Given the description of an element on the screen output the (x, y) to click on. 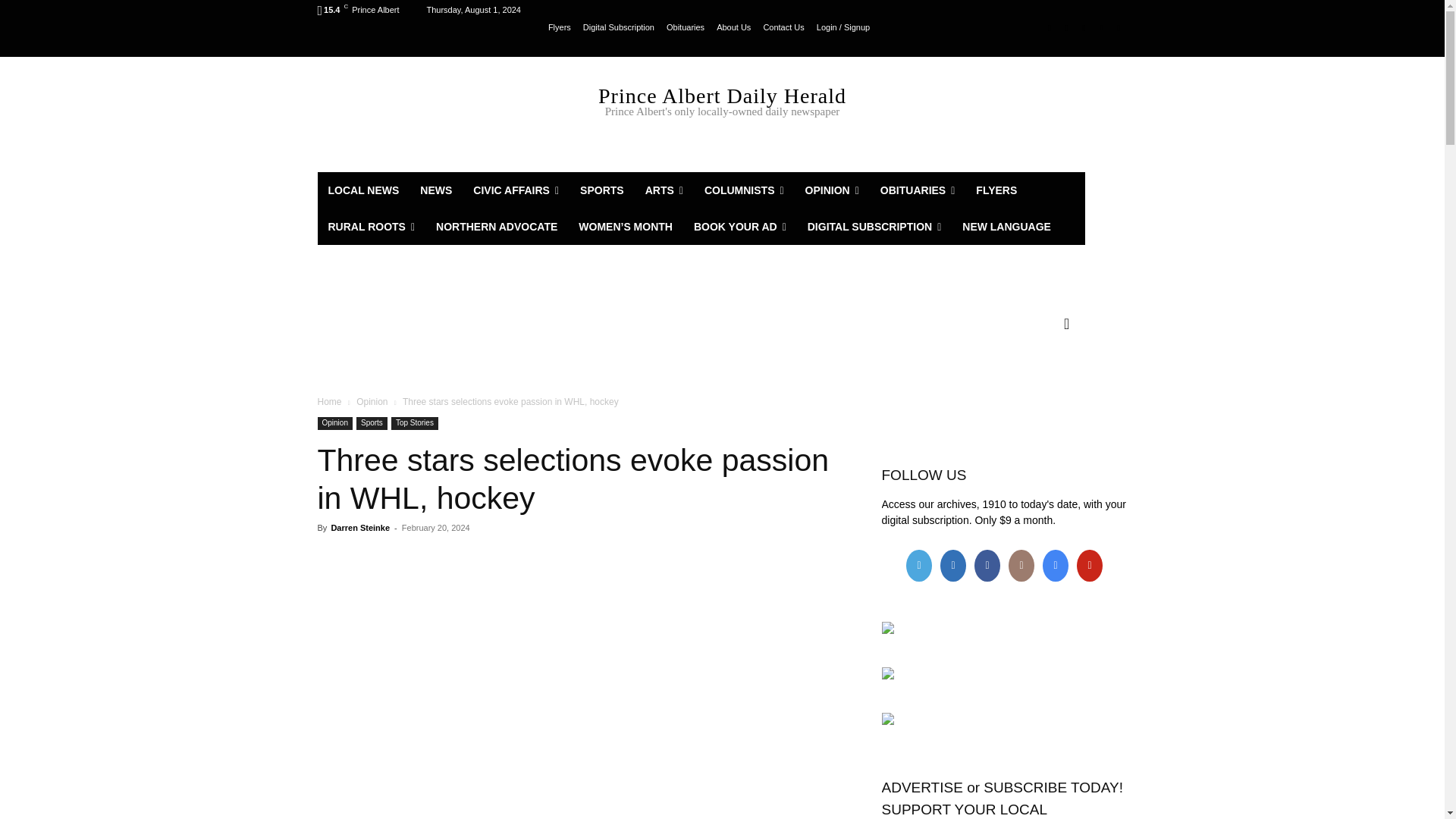
Twitter (1084, 27)
Instagram (1066, 27)
Facebook (1049, 27)
Vimeo (1101, 27)
View all posts in Opinion (371, 401)
Youtube (1117, 27)
